Given the description of an element on the screen output the (x, y) to click on. 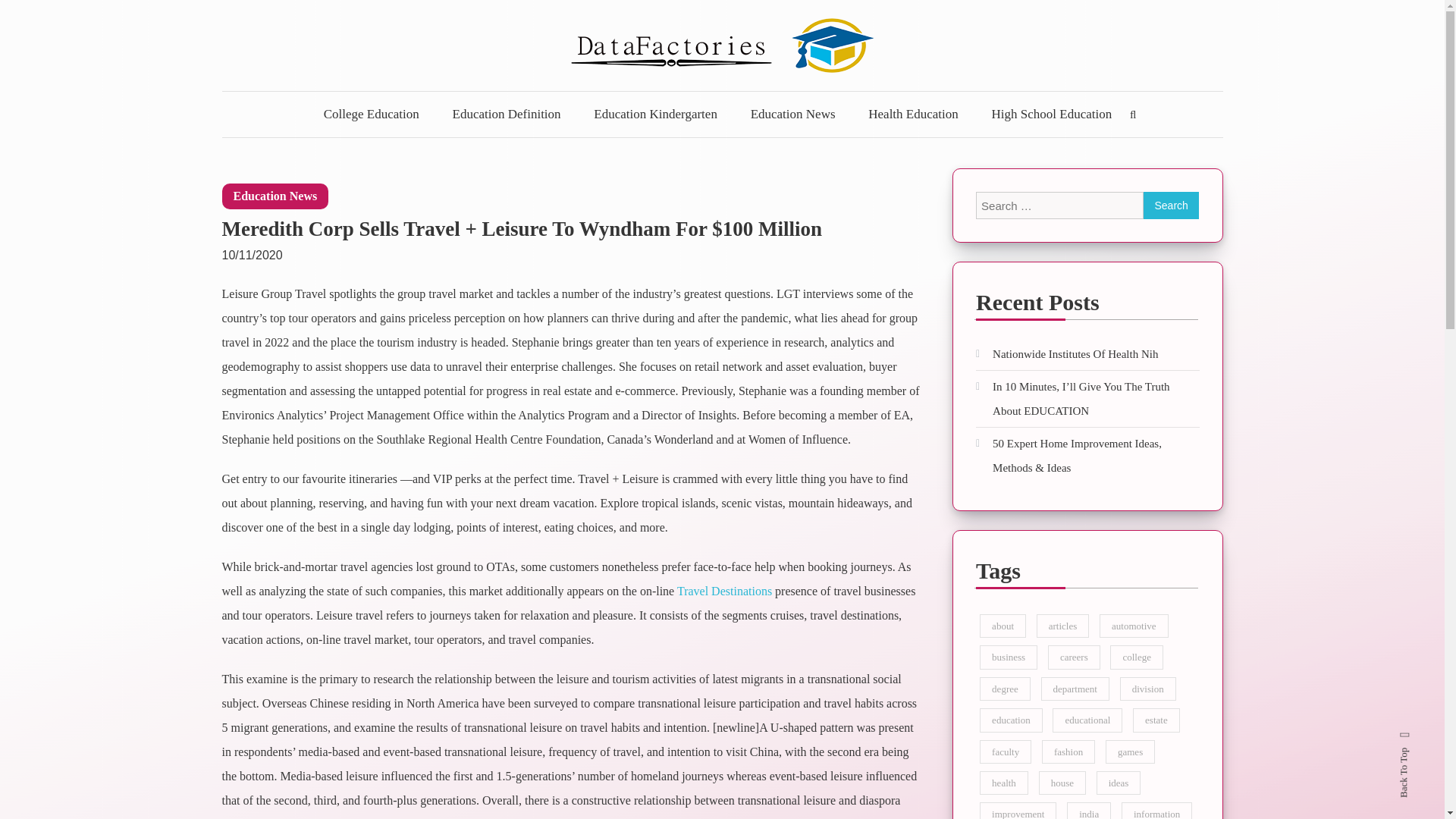
College Education (370, 114)
about (1002, 626)
Health Education (913, 114)
division (1147, 689)
DF (247, 100)
automotive (1134, 626)
Search (768, 432)
college (1136, 657)
Education News (792, 114)
articles (1062, 626)
Search (1170, 205)
Education News (275, 196)
High School Education (1051, 114)
Education Definition (507, 114)
business (1007, 657)
